Given the description of an element on the screen output the (x, y) to click on. 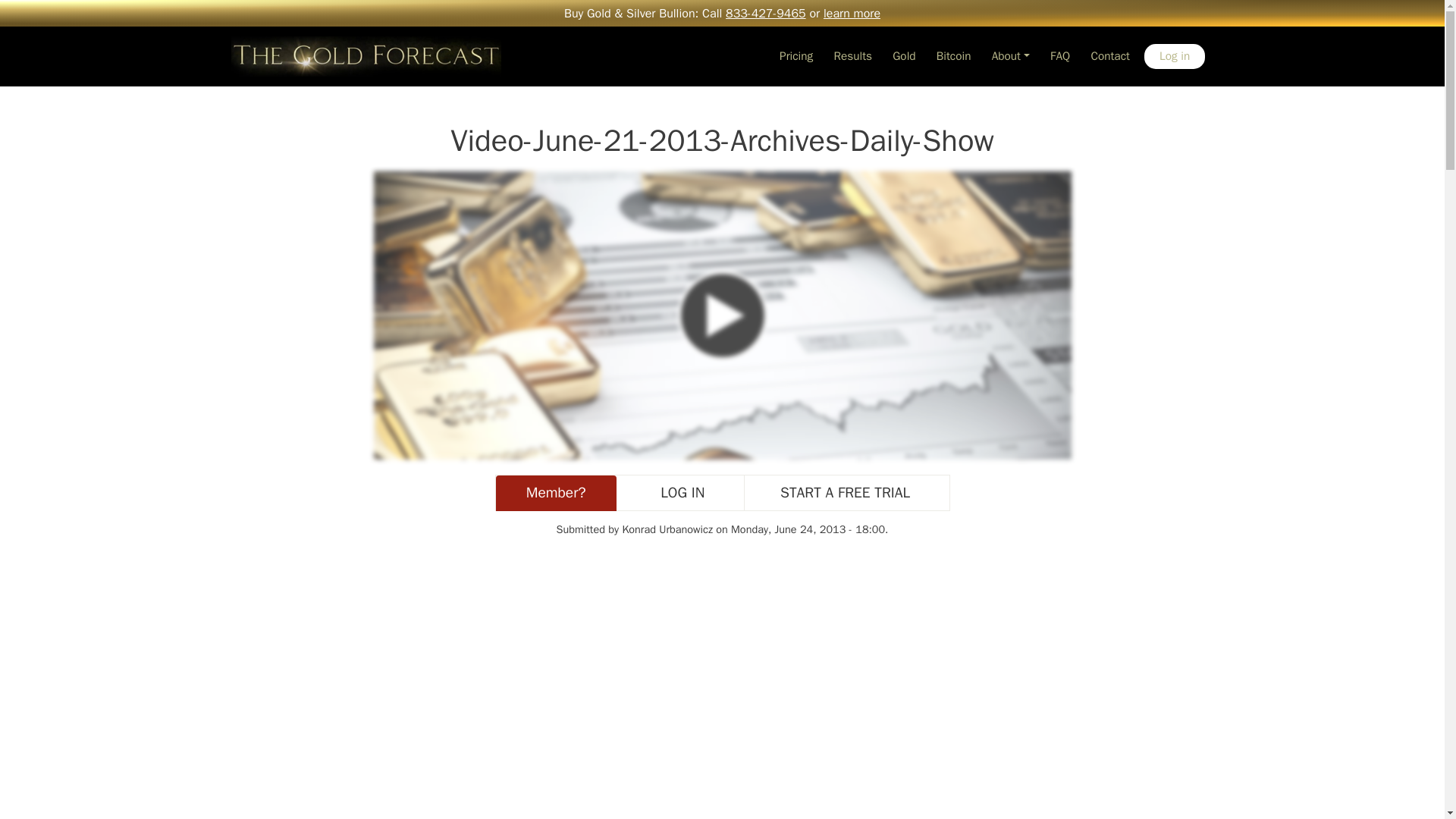
FAQ (1059, 56)
START A FREE TRIAL (842, 493)
LOG IN (679, 493)
About (1010, 56)
Gold (903, 56)
833-427-9465 (765, 13)
Log in (1174, 56)
Contact (1109, 56)
Member? (555, 493)
View our track record over the past 10 years (852, 56)
Frequently asked questions (1059, 56)
learn more (852, 13)
Results (852, 56)
Home (365, 56)
Pricing (795, 56)
